Given the description of an element on the screen output the (x, y) to click on. 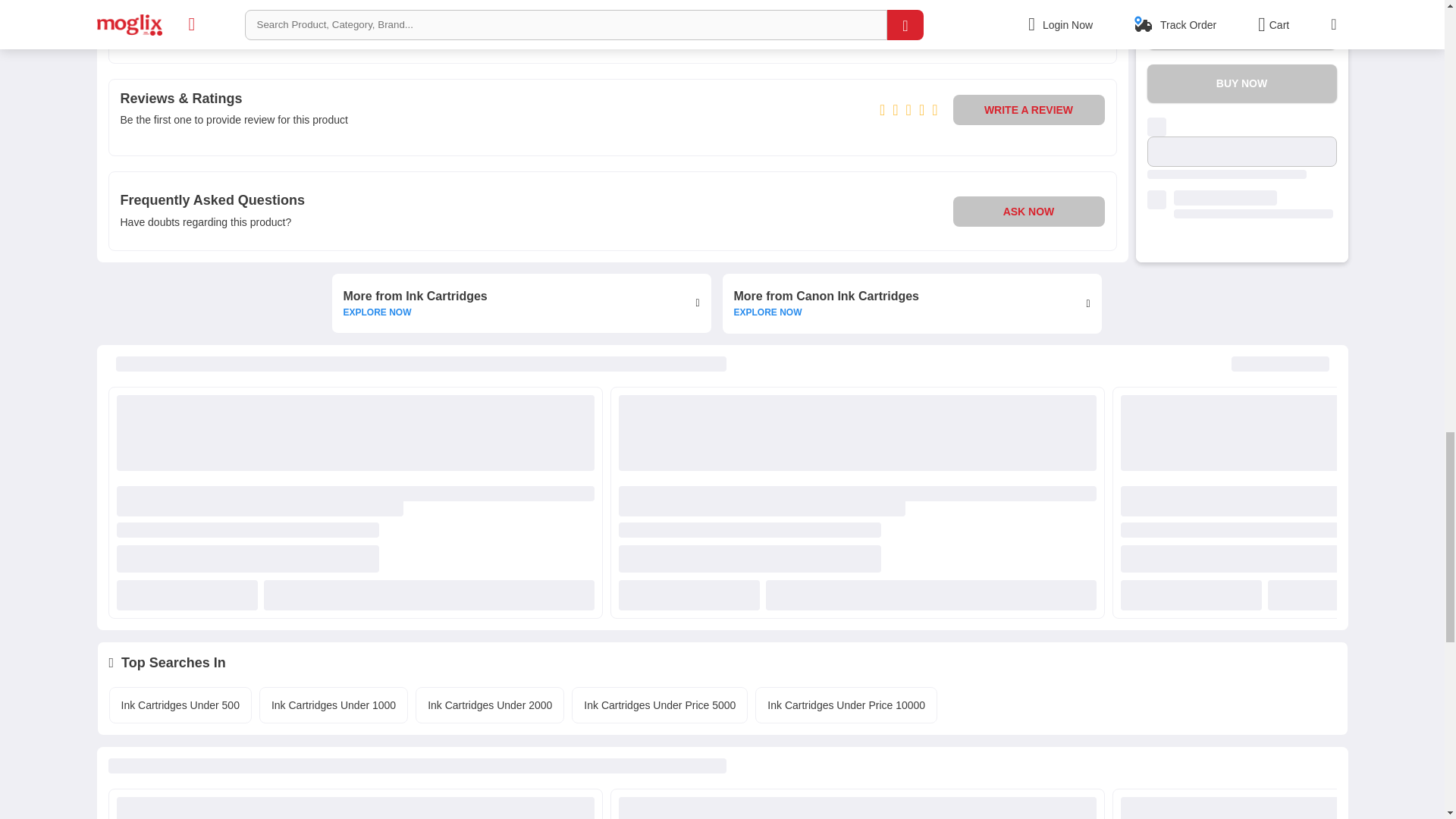
Ink Cartridges Under 500 (180, 705)
Ink Cartridges Under 2000 (489, 705)
Ink Cartridges Under Price 5000 (659, 705)
ASK NOW (1027, 210)
WRITE A REVIEW (1027, 110)
Ink Cartridges Under 1000 (521, 303)
Ink Cartridges Under Price 10000 (911, 303)
